Given the description of an element on the screen output the (x, y) to click on. 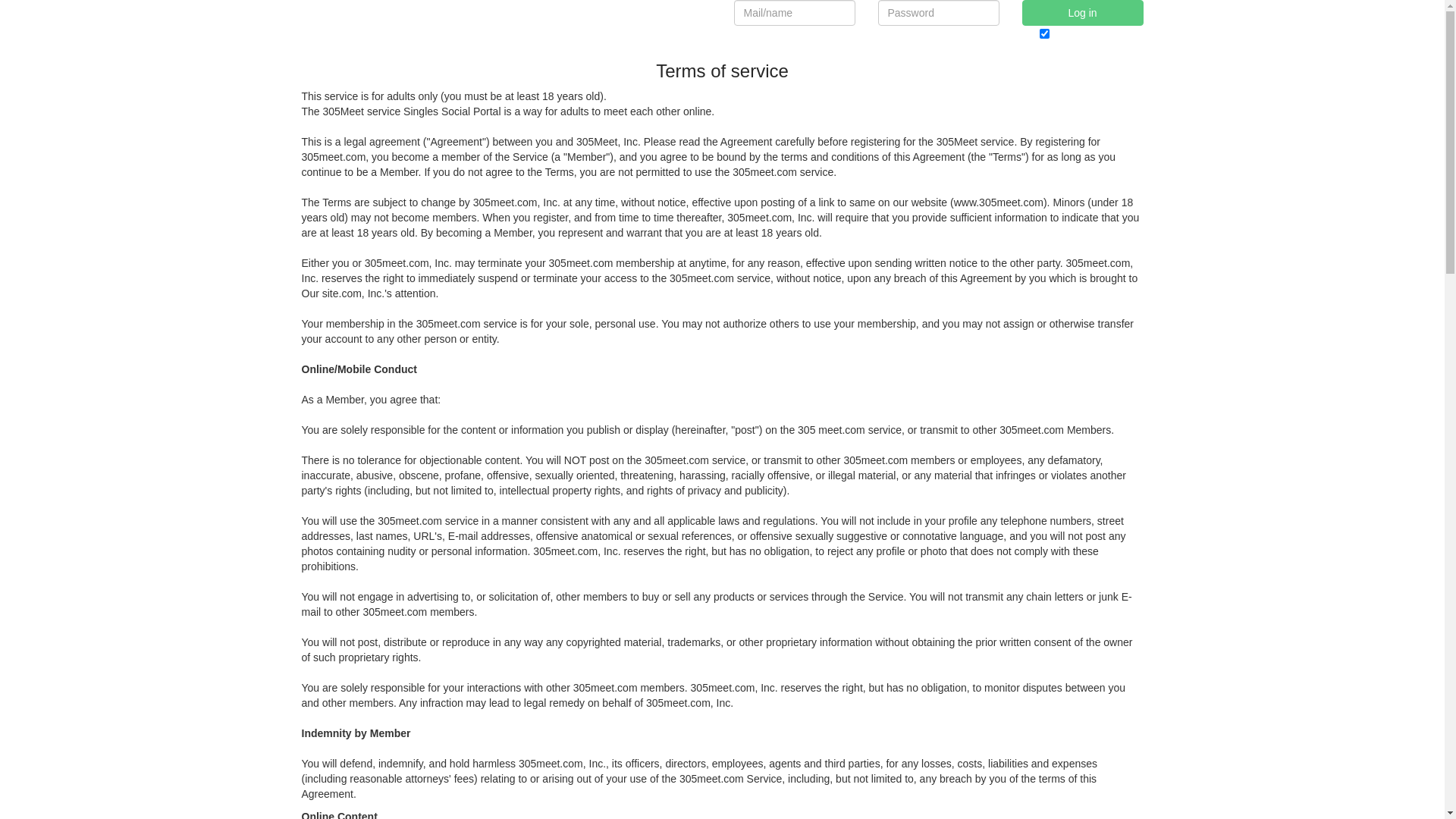
Log in Element type: text (1082, 12)
Forgot password? Element type: text (926, 33)
Register now! Element type: text (773, 33)
